Given the description of an element on the screen output the (x, y) to click on. 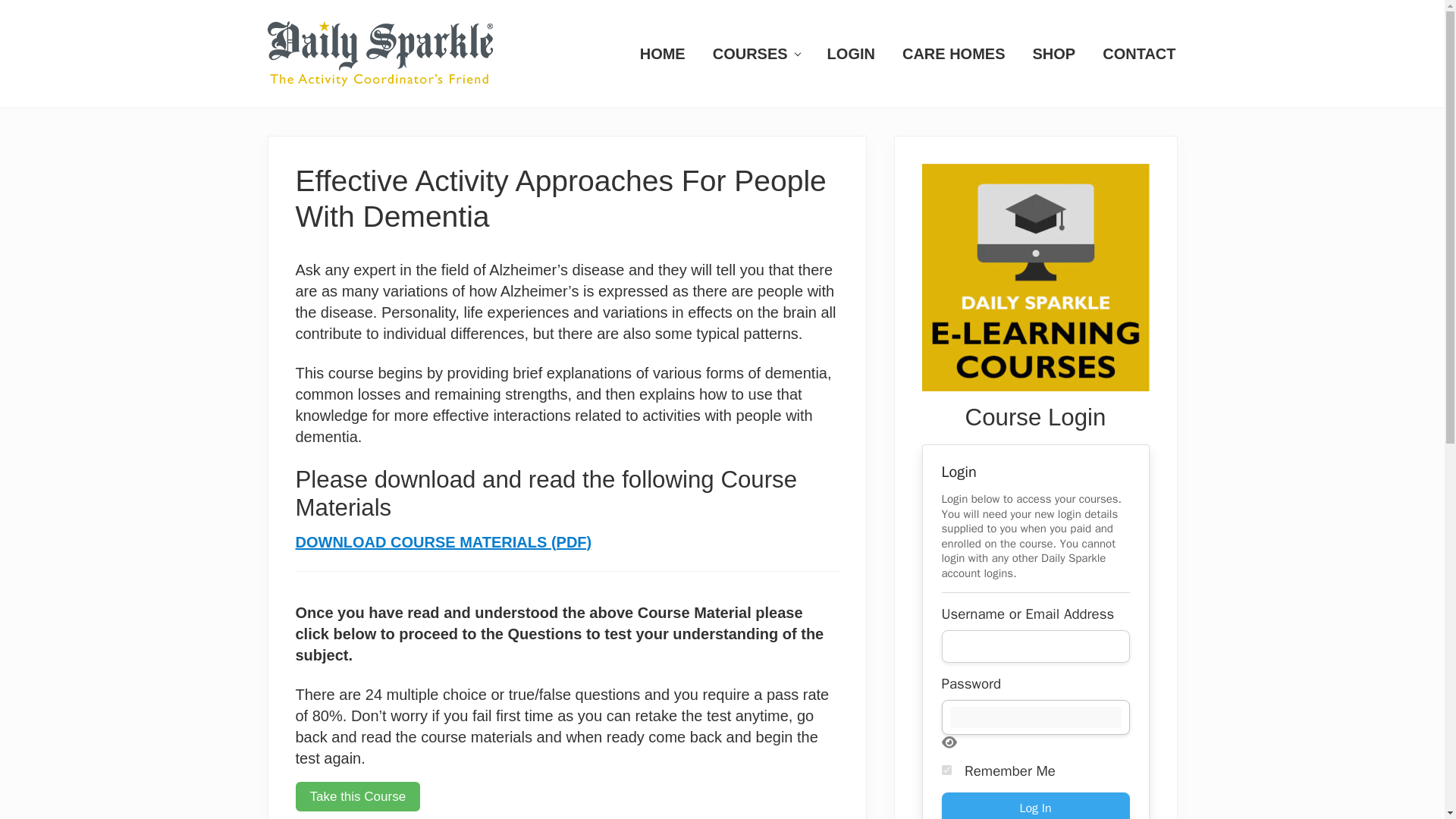
CARE HOMES (953, 53)
LOGIN (850, 53)
Take this Course (357, 796)
Log In (1035, 805)
forever (947, 769)
CONTACT (1139, 53)
COURSES (756, 53)
Log In (1035, 805)
HOME (662, 53)
